Given the description of an element on the screen output the (x, y) to click on. 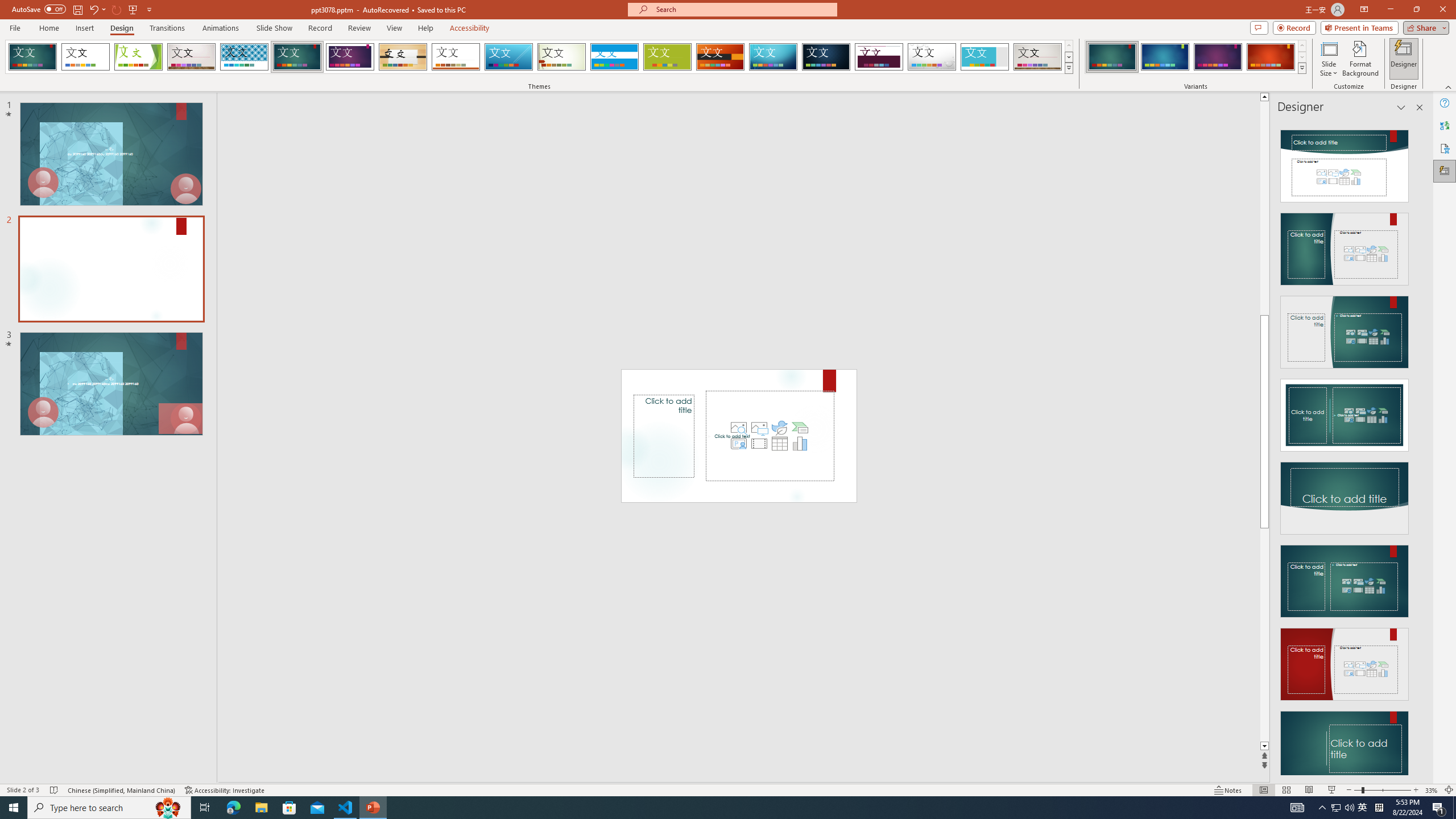
Retrospect (455, 56)
Slice (508, 56)
Stock Images (738, 427)
Office Theme (85, 56)
Title TextBox (663, 435)
Slide Size (1328, 58)
